Given the description of an element on the screen output the (x, y) to click on. 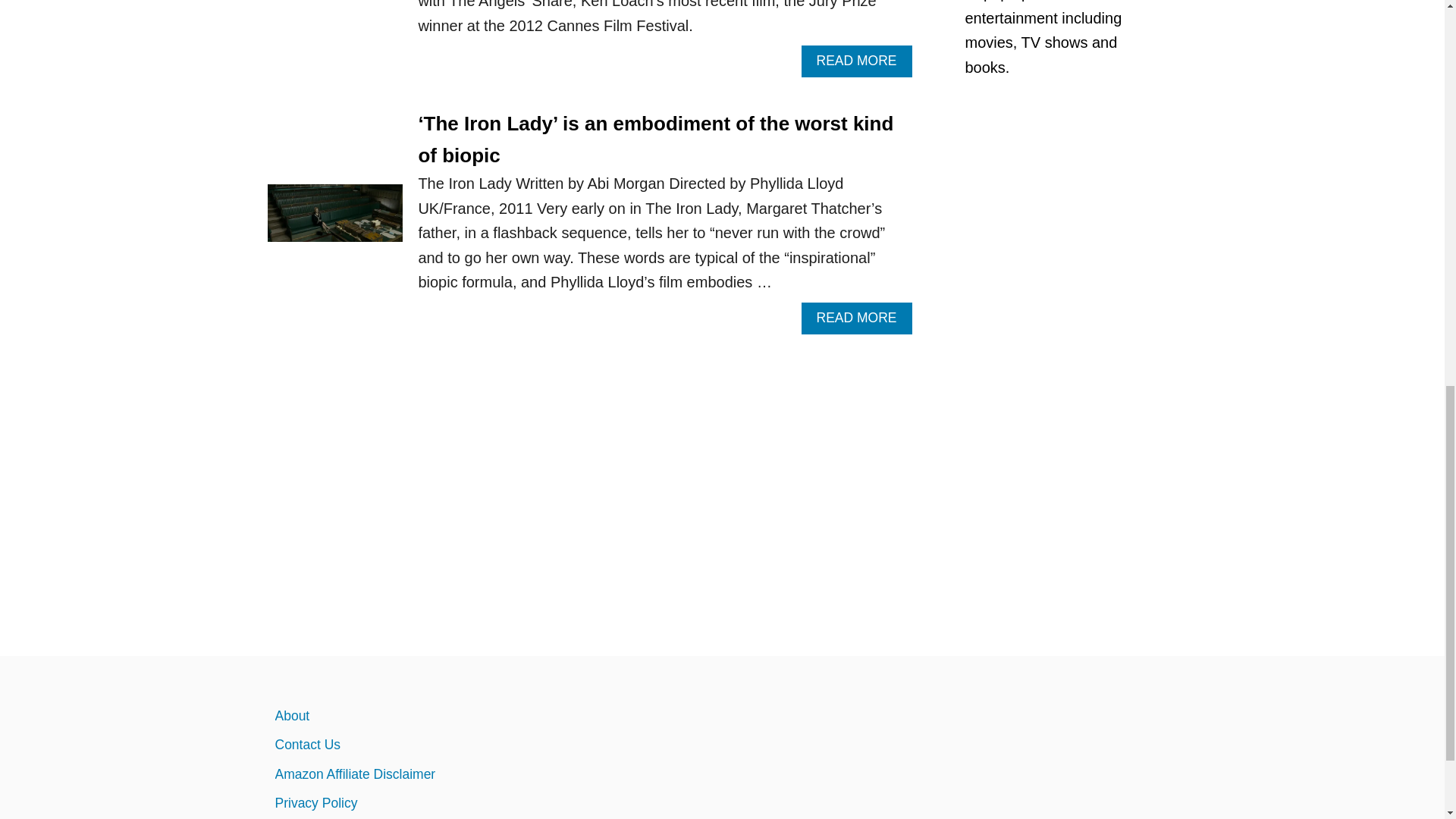
About (406, 715)
Privacy Policy (406, 802)
Amazon Affiliate Disclaimer (406, 774)
Contact Us (406, 744)
